Given the description of an element on the screen output the (x, y) to click on. 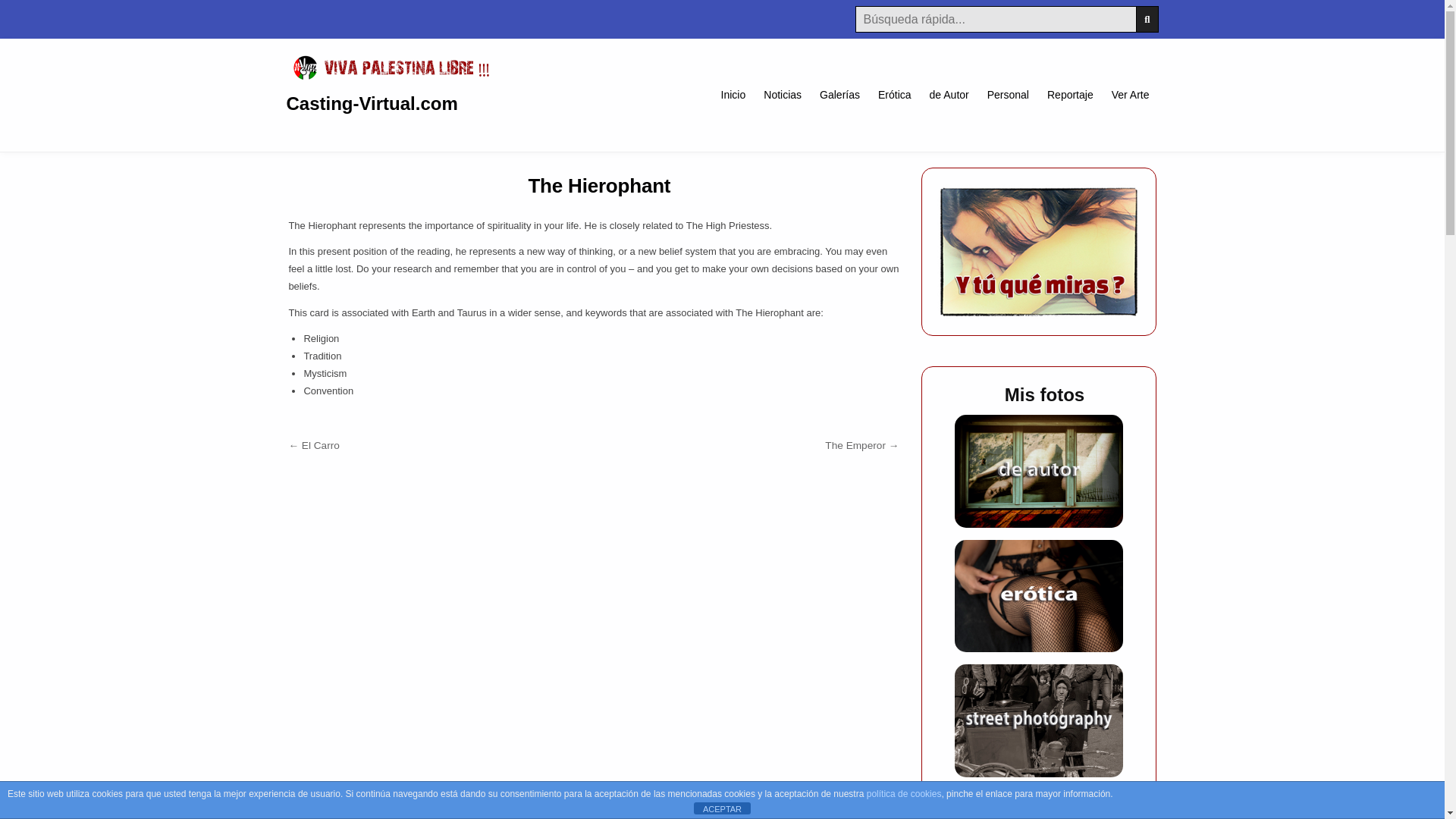
The Hierophant (598, 185)
Personal (1008, 94)
de Autor (949, 94)
Casting-Virtual.com (372, 103)
Reportaje (1070, 94)
Ver Arte (1130, 94)
Inicio (733, 94)
Street Photography (1039, 720)
Noticias (782, 94)
